Given the description of an element on the screen output the (x, y) to click on. 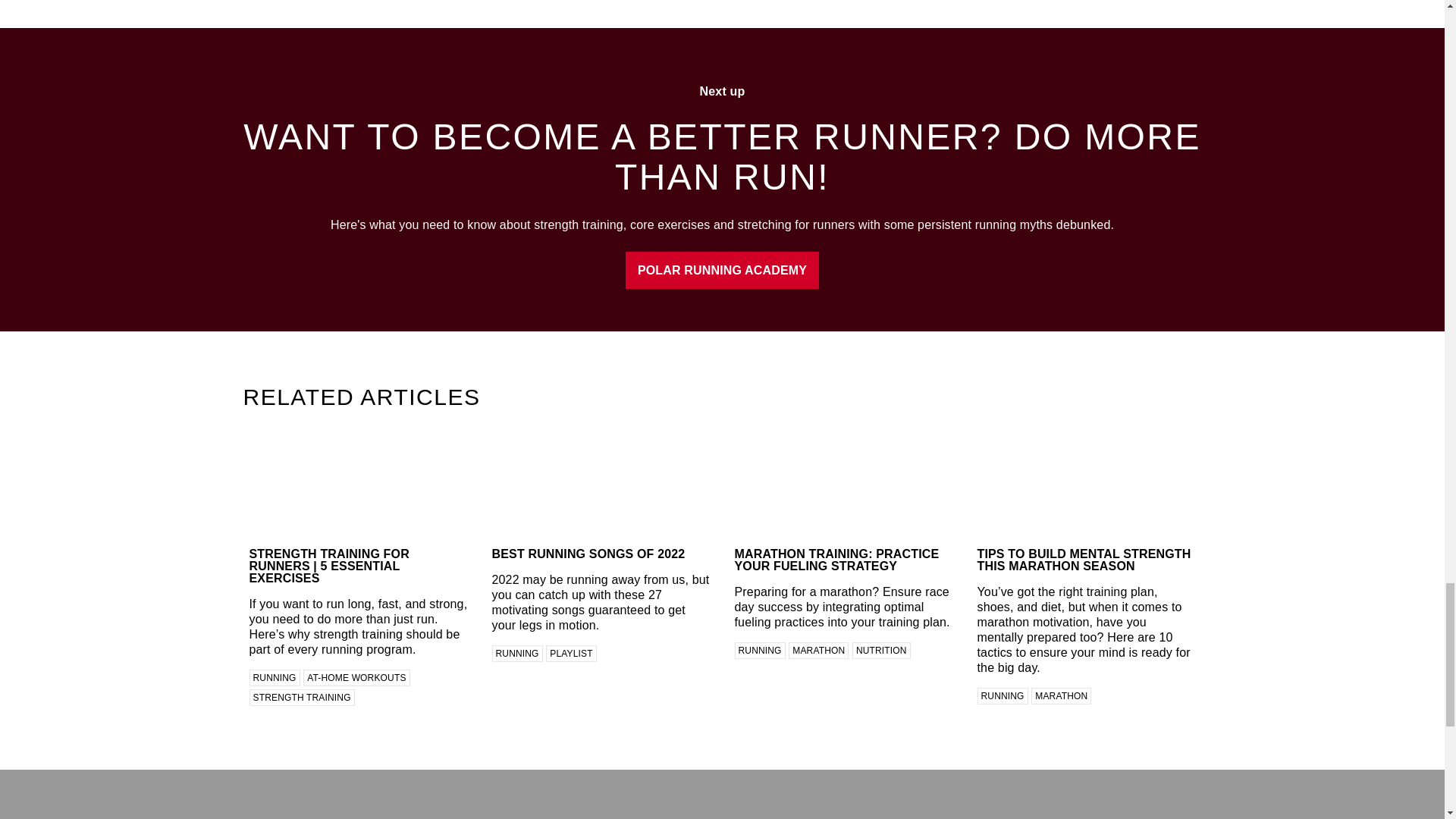
View all posts in category Running (516, 653)
RUNNING (516, 653)
RUNNING (273, 677)
View all posts tagged with Nutrition (881, 650)
STRENGTH TRAINING (300, 697)
View all posts in category Running (273, 677)
View all posts in category Running (1001, 695)
View all posts tagged with Strength Training (300, 697)
View all posts tagged with Marathon (1060, 695)
